Given the description of an element on the screen output the (x, y) to click on. 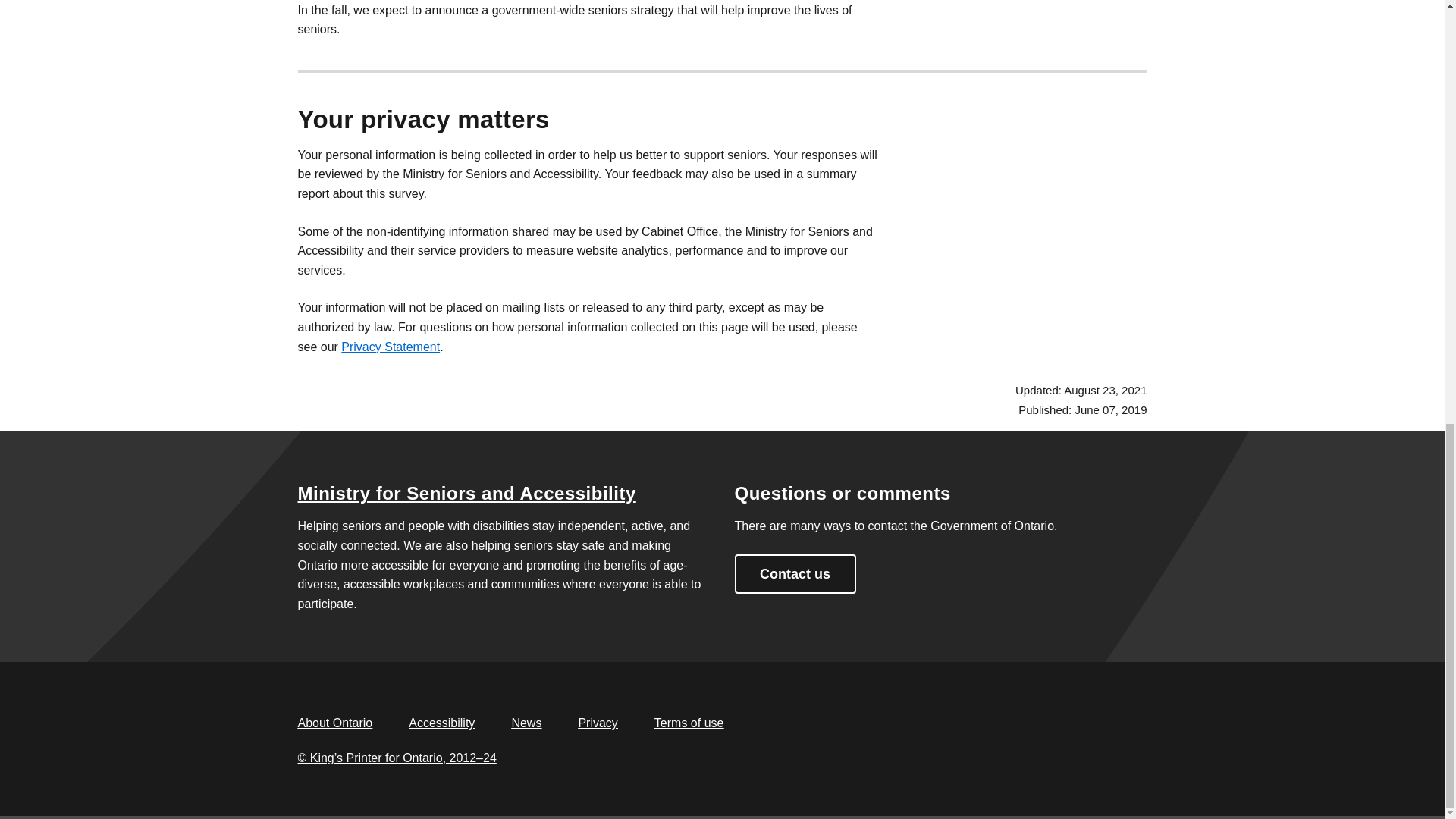
Privacy (597, 722)
Accessibility (441, 722)
Terms of use (688, 722)
News (526, 722)
Ministry for Seniors and Accessibility (465, 492)
Privacy Statement (389, 346)
About Ontario (334, 722)
Contact us (794, 573)
